Given the description of an element on the screen output the (x, y) to click on. 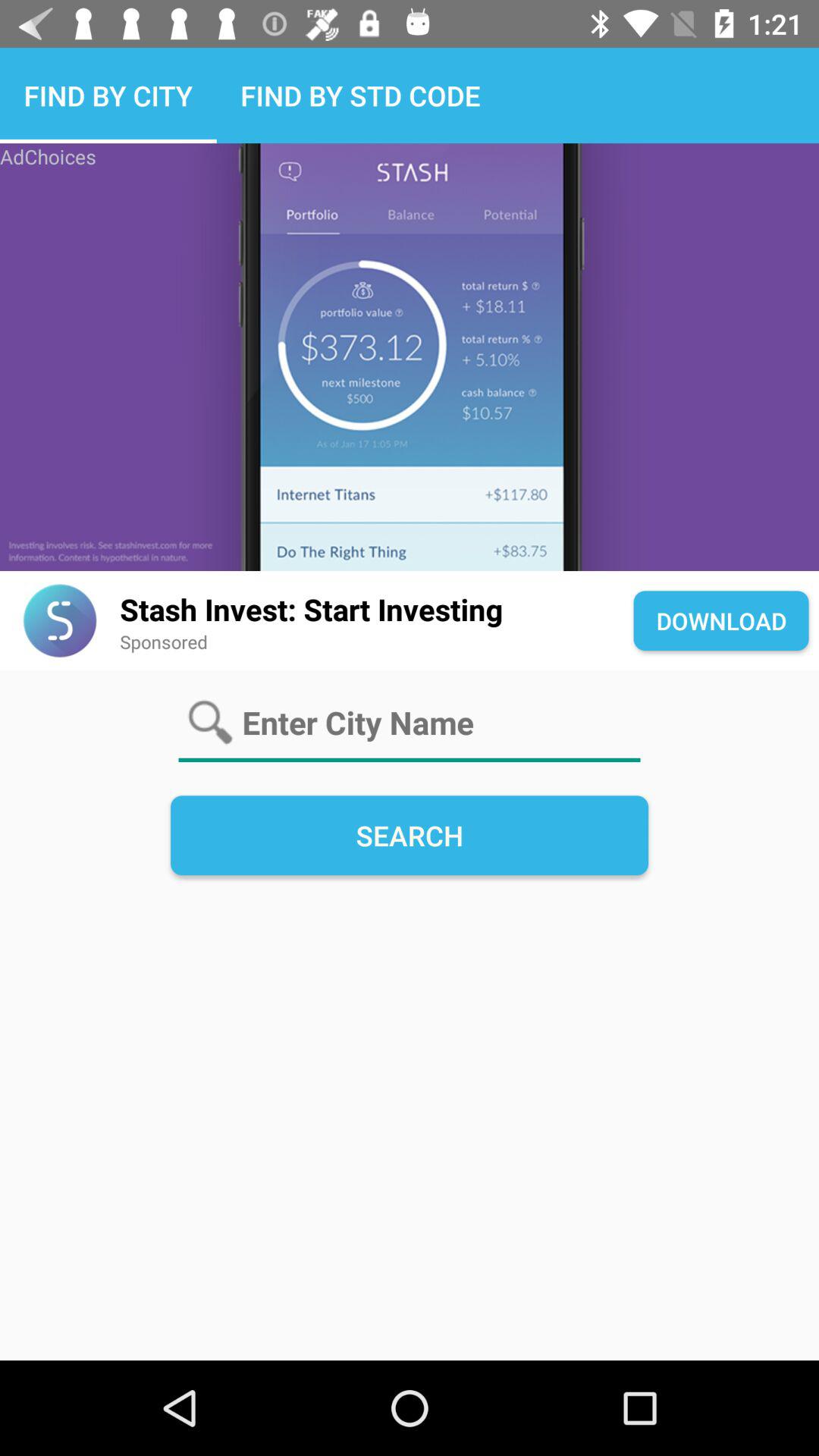
enter text (409, 722)
